Given the description of an element on the screen output the (x, y) to click on. 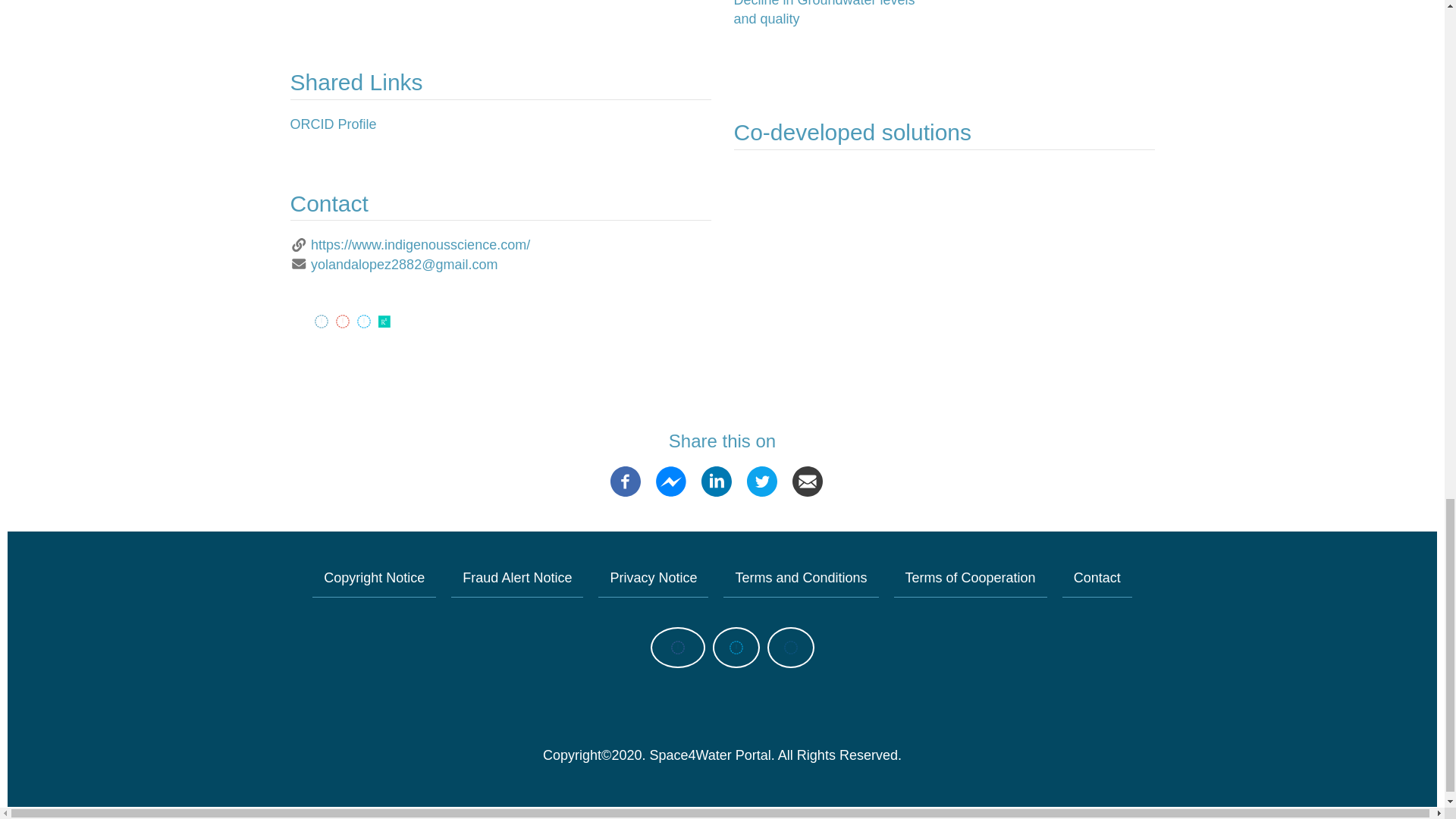
Facebook (625, 480)
Email (807, 480)
Facebook messenger (670, 480)
Twitter (761, 480)
Linkedin (716, 480)
